Given the description of an element on the screen output the (x, y) to click on. 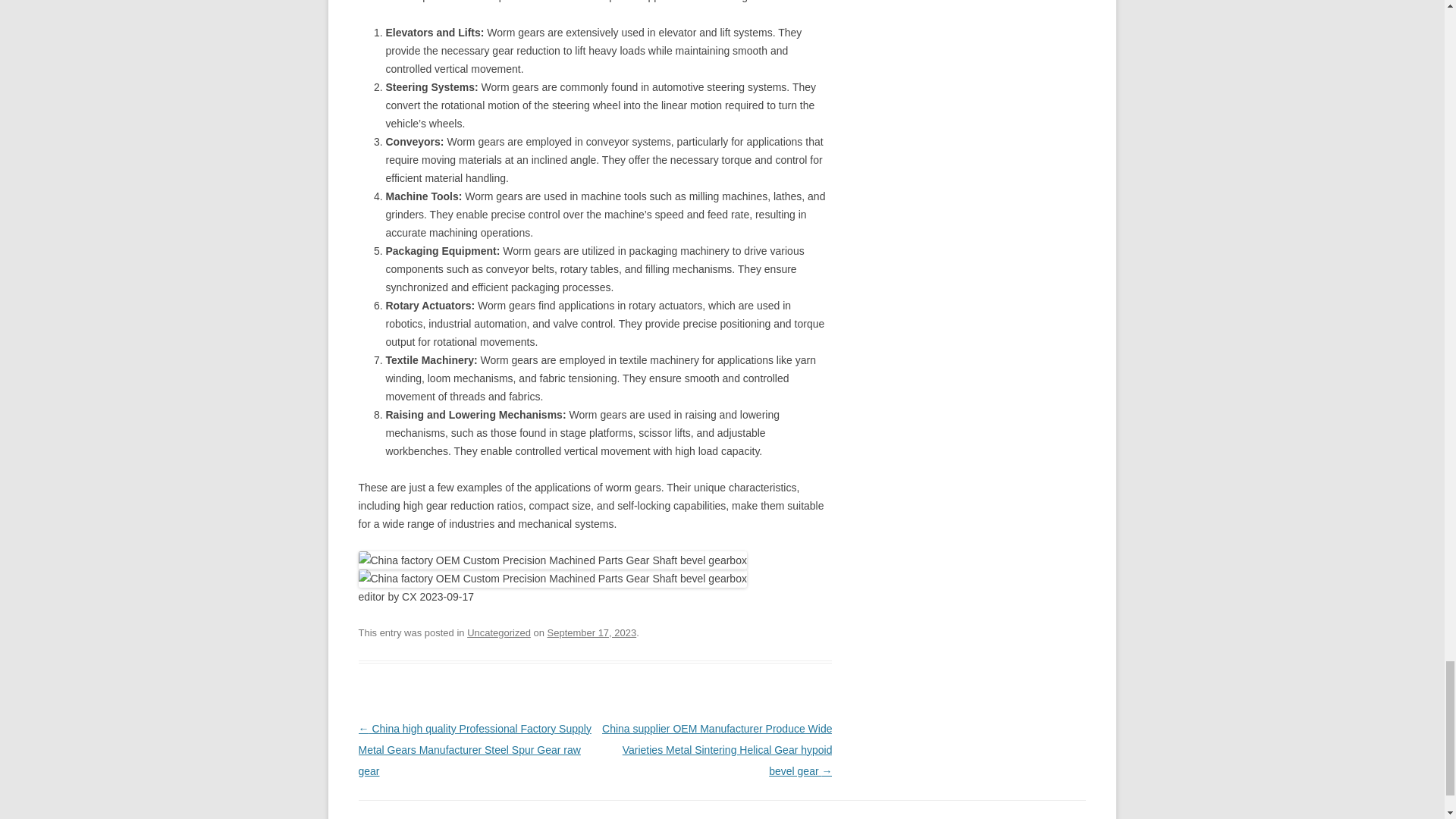
Uncategorized (499, 632)
12:38 am (592, 632)
September 17, 2023 (592, 632)
